Given the description of an element on the screen output the (x, y) to click on. 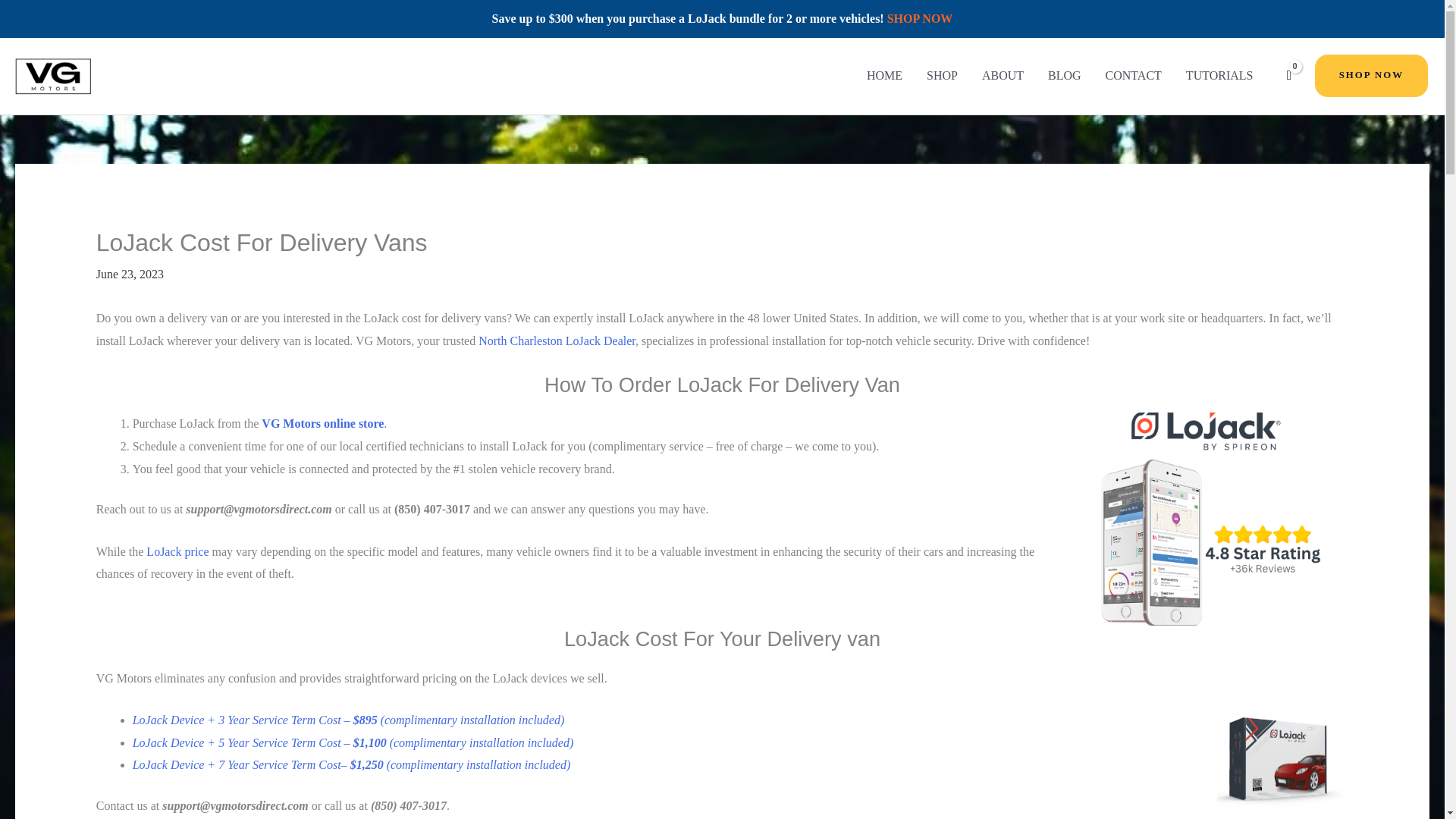
TUTORIALS (1219, 75)
CONTACT (1133, 75)
SHOP NOW (1371, 75)
HOME (884, 75)
ABOUT (1002, 75)
LoJack price (177, 551)
SHOP NOW (919, 18)
VG Motors online store (323, 422)
SHOP (941, 75)
BLOG (1064, 75)
